Given the description of an element on the screen output the (x, y) to click on. 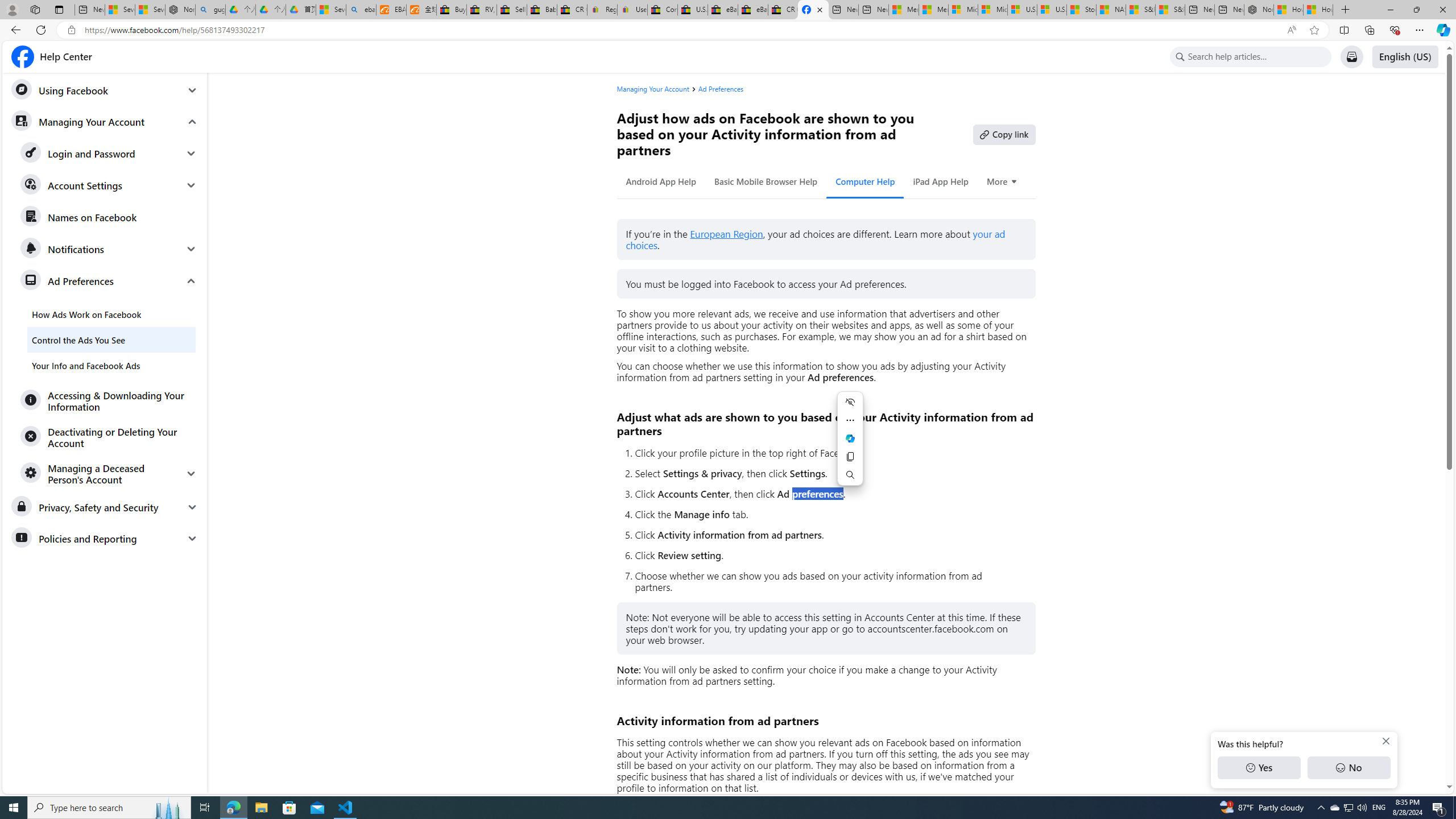
Click the Manage info tab. (829, 514)
European Region (726, 233)
U.S. State Privacy Disclosures - eBay Inc. (691, 9)
Ask Copilot (850, 438)
Android App Help (660, 181)
Consumer Health Data Privacy Policy - eBay Inc. (662, 9)
Accessing & Downloading Your Information (108, 400)
Hide menu (850, 402)
Ad Preferences (720, 89)
